Given the description of an element on the screen output the (x, y) to click on. 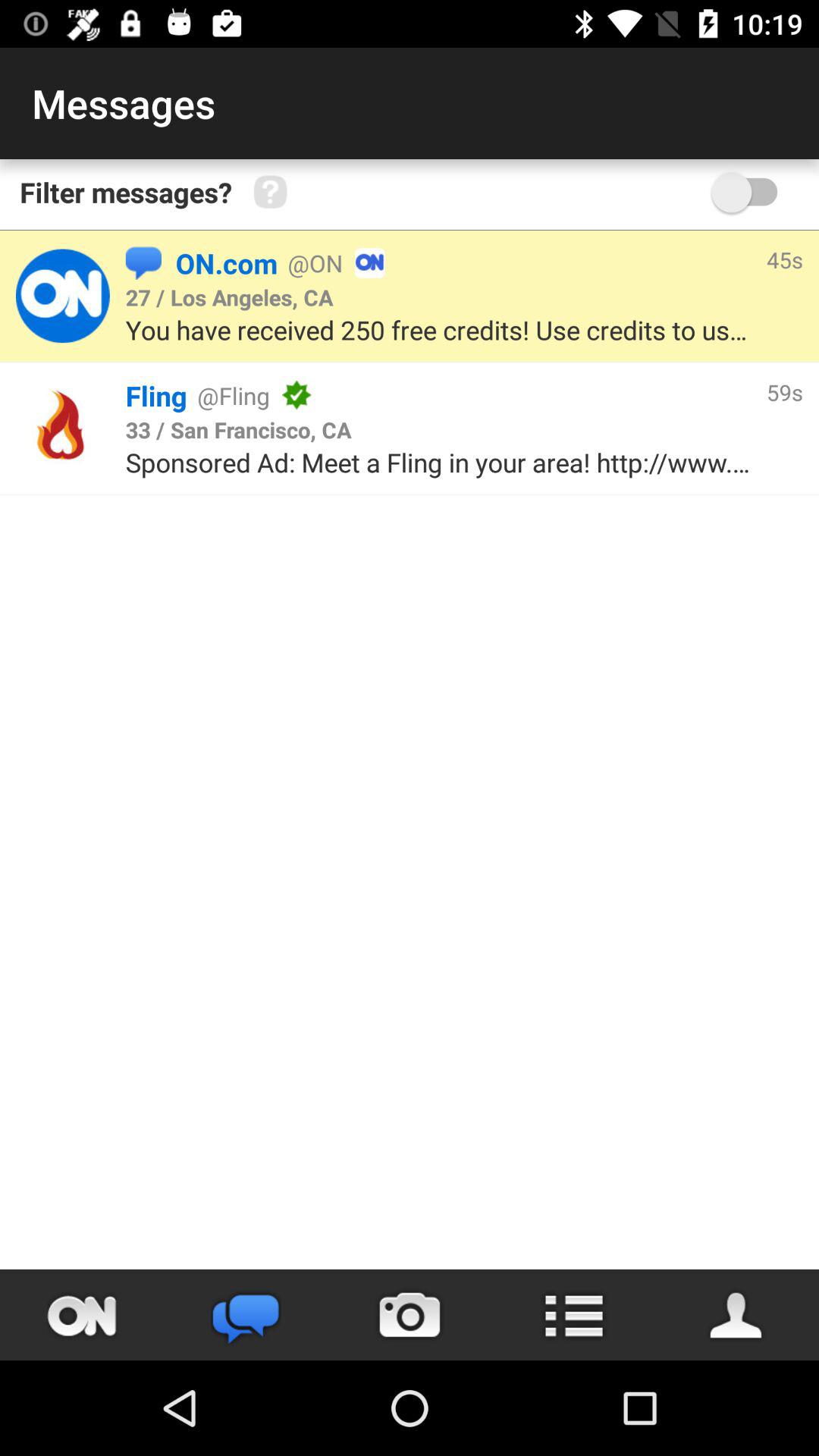
open chat (245, 1315)
